Given the description of an element on the screen output the (x, y) to click on. 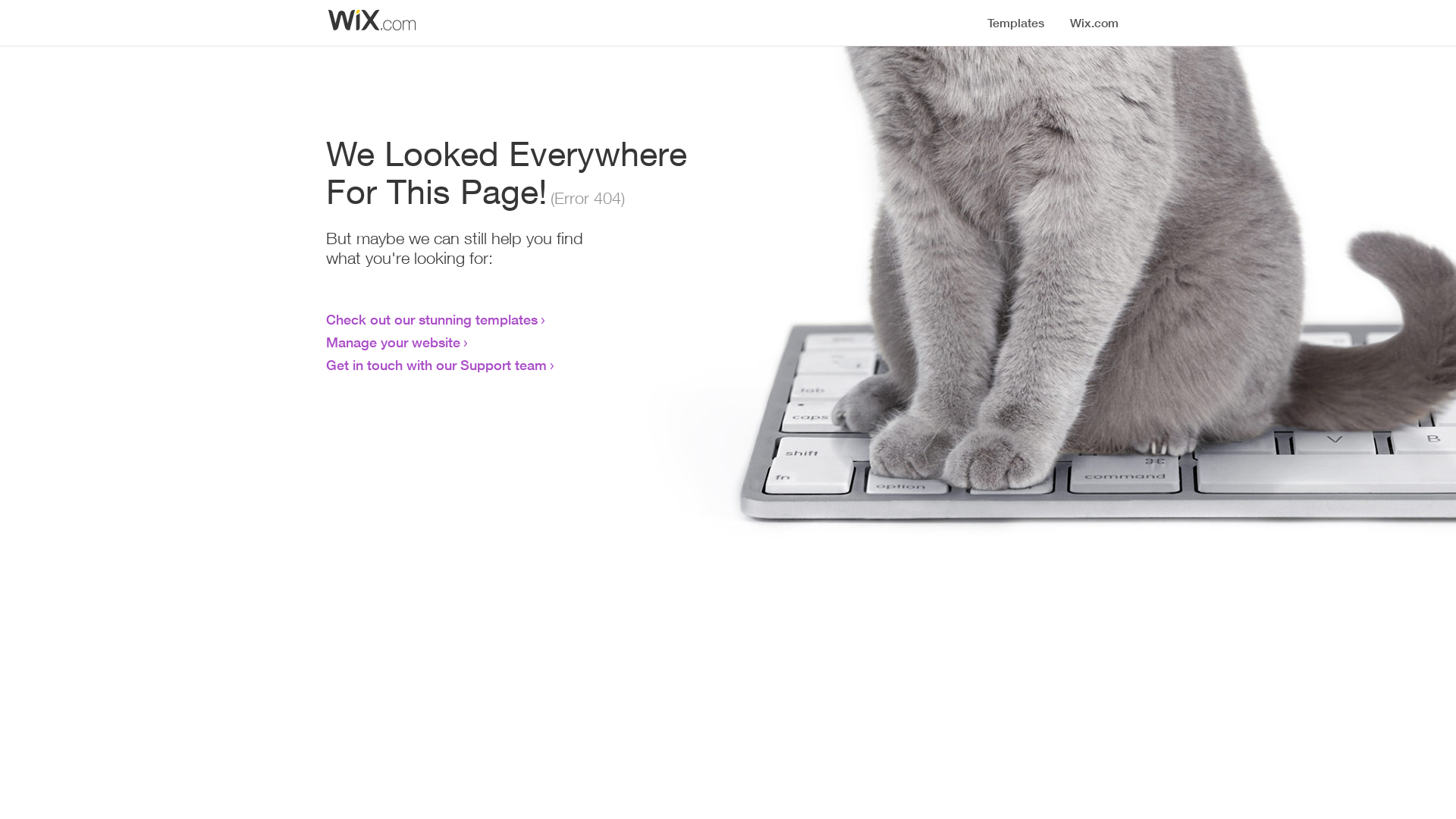
Check out our stunning templates Element type: text (431, 318)
Manage your website Element type: text (393, 341)
Get in touch with our Support team Element type: text (436, 364)
